Given the description of an element on the screen output the (x, y) to click on. 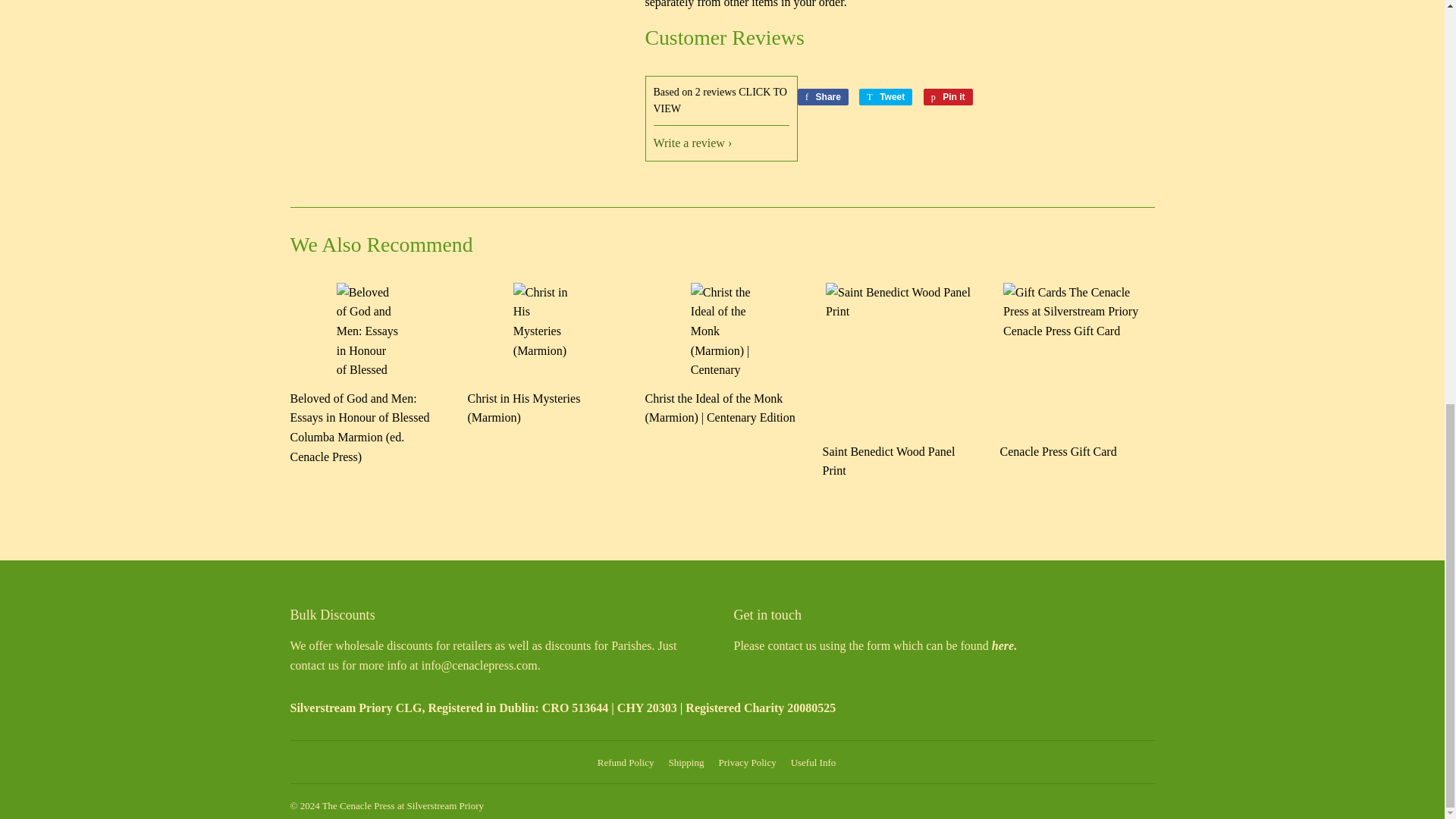
Pin on Pinterest (947, 96)
Share on Facebook (822, 96)
Tweet on Twitter (885, 96)
